Given the description of an element on the screen output the (x, y) to click on. 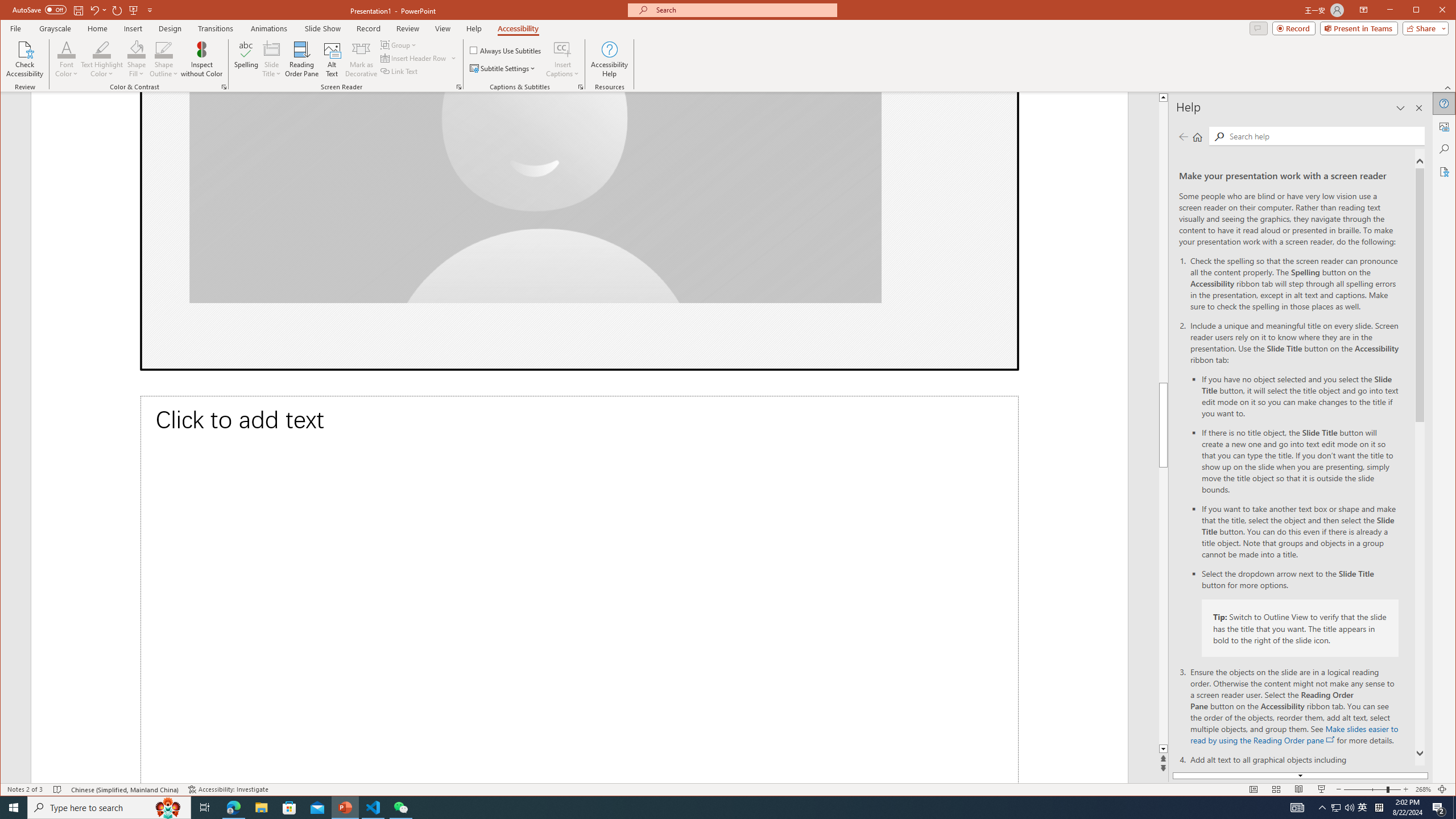
Mark as Decorative (360, 59)
Font Color (66, 59)
Insert Captions (562, 59)
Task View (204, 807)
Shape Fill Orange, Accent 2 (136, 48)
Spelling... (246, 59)
Action Center, 2 new notifications (1439, 807)
